Given the description of an element on the screen output the (x, y) to click on. 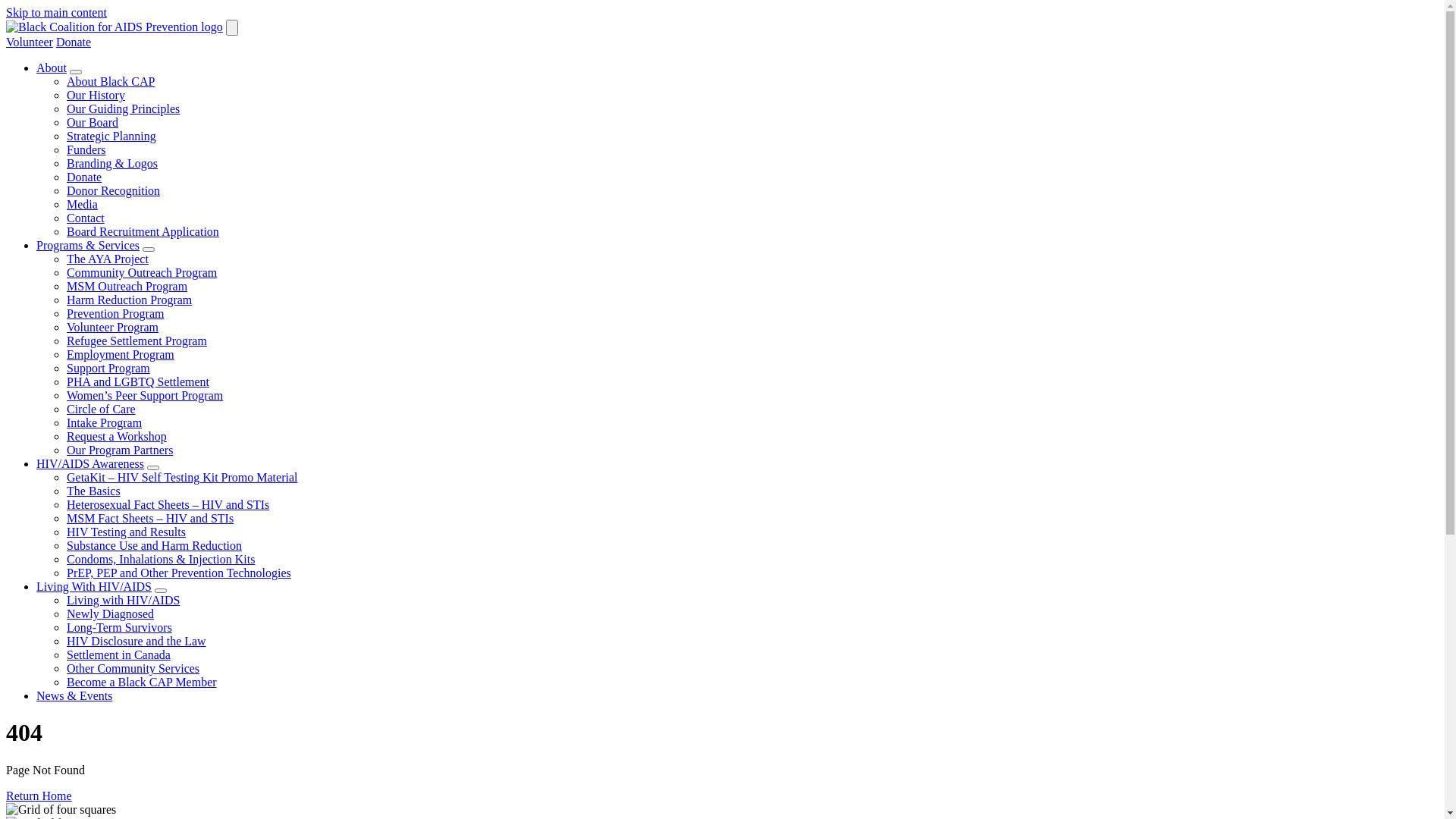
Request a Workshop Element type: text (116, 435)
PrEP, PEP and Other Prevention Technologies Element type: text (178, 572)
Long-Term Survivors Element type: text (119, 627)
Living with HIV/AIDS Element type: text (122, 599)
About Black CAP Element type: text (110, 81)
Return Home Element type: text (39, 795)
Programs & Services Element type: text (87, 244)
Condoms, Inhalations & Injection Kits Element type: text (160, 558)
Skip to main content Element type: text (56, 12)
Community Outreach Program Element type: text (141, 272)
PHA and LGBTQ Settlement Element type: text (137, 381)
MSM Outreach Program Element type: text (126, 285)
Board Recruitment Application Element type: text (142, 231)
Our Guiding Principles Element type: text (122, 108)
News & Events Element type: text (74, 695)
HIV Testing and Results Element type: text (125, 531)
Our History Element type: text (95, 94)
Funders Element type: text (86, 149)
Settlement in Canada Element type: text (118, 654)
Refugee Settlement Program Element type: text (136, 340)
Employment Program Element type: text (120, 354)
Become a Black CAP Member Element type: text (141, 681)
Prevention Program Element type: text (114, 313)
The Basics Element type: text (93, 490)
Other Community Services Element type: text (132, 668)
Donate Element type: text (73, 41)
Intake Program Element type: text (103, 422)
Substance Use and Harm Reduction Element type: text (153, 545)
Volunteer Program Element type: text (112, 326)
Strategic Planning Element type: text (111, 135)
Living With HIV/AIDS Element type: text (93, 586)
Media Element type: text (81, 203)
Circle of Care Element type: text (100, 408)
Donate Element type: text (83, 176)
HIV/AIDS Awareness Element type: text (90, 463)
Volunteer Element type: text (29, 41)
Our Program Partners Element type: text (119, 449)
HIV Disclosure and the Law Element type: text (136, 640)
Contact Element type: text (85, 217)
About Element type: text (51, 67)
Harm Reduction Program Element type: text (128, 299)
Our Board Element type: text (92, 122)
Support Program Element type: text (108, 367)
Newly Diagnosed Element type: text (109, 613)
The AYA Project Element type: text (107, 258)
Branding & Logos Element type: text (111, 162)
Donor Recognition Element type: text (113, 190)
